Given the description of an element on the screen output the (x, y) to click on. 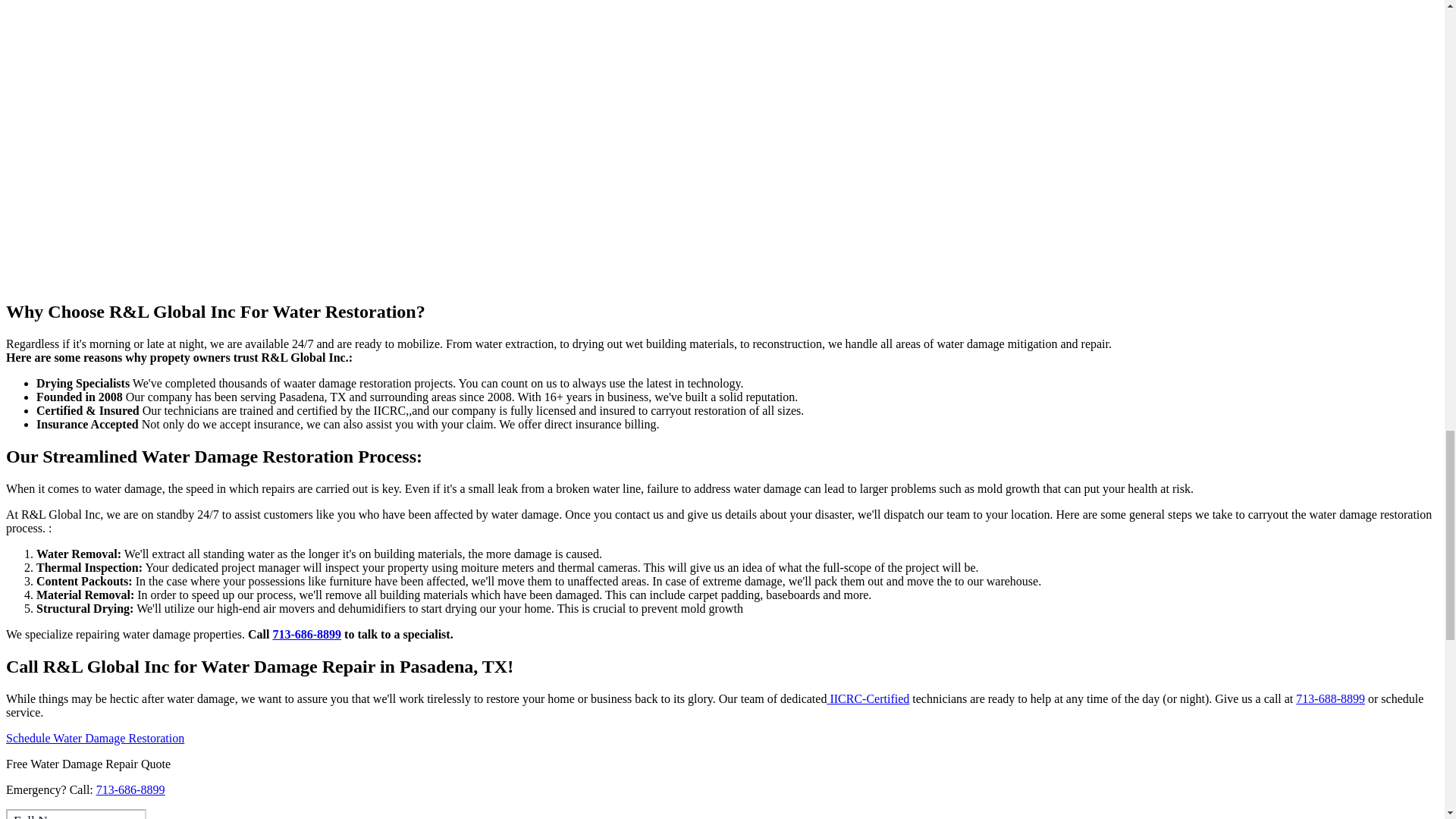
713-688-8899 (1330, 698)
713-686-8899 (130, 789)
Schedule Water Damage Restoration (94, 738)
713-686-8899 (306, 634)
IICRC-Certified (867, 698)
